Given the description of an element on the screen output the (x, y) to click on. 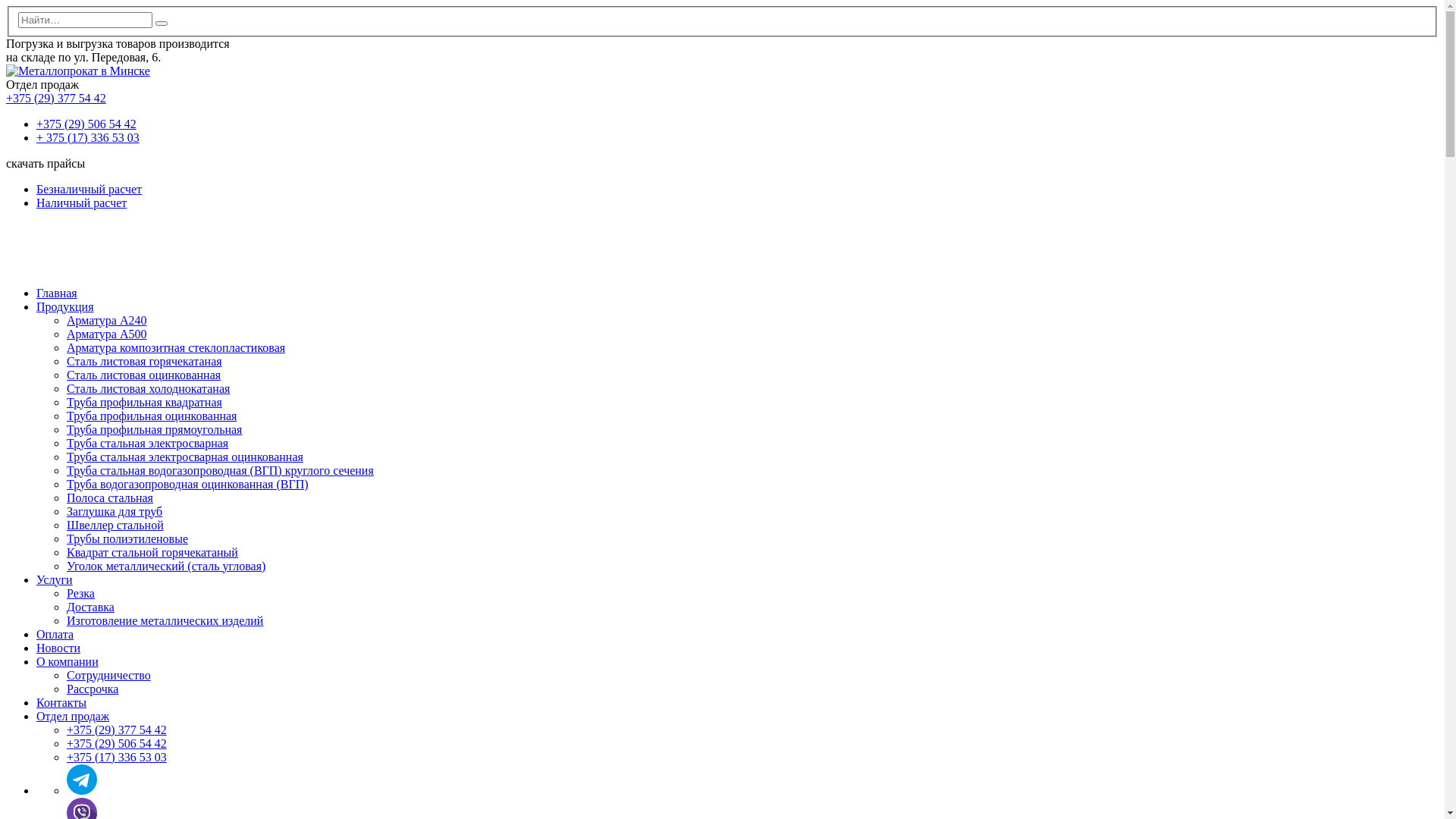
+ 375 (17) 336 53 03 Element type: text (87, 137)
+375 (17) 336 53 03 Element type: text (116, 756)
+375 (29) 377 54 42 Element type: text (56, 97)
+375 (29) 506 54 42 Element type: text (86, 123)
+375 (29) 506 54 42 Element type: text (116, 743)
+375 (29) 377 54 42 Element type: text (116, 729)
Search Element type: hover (161, 23)
